Given the description of an element on the screen output the (x, y) to click on. 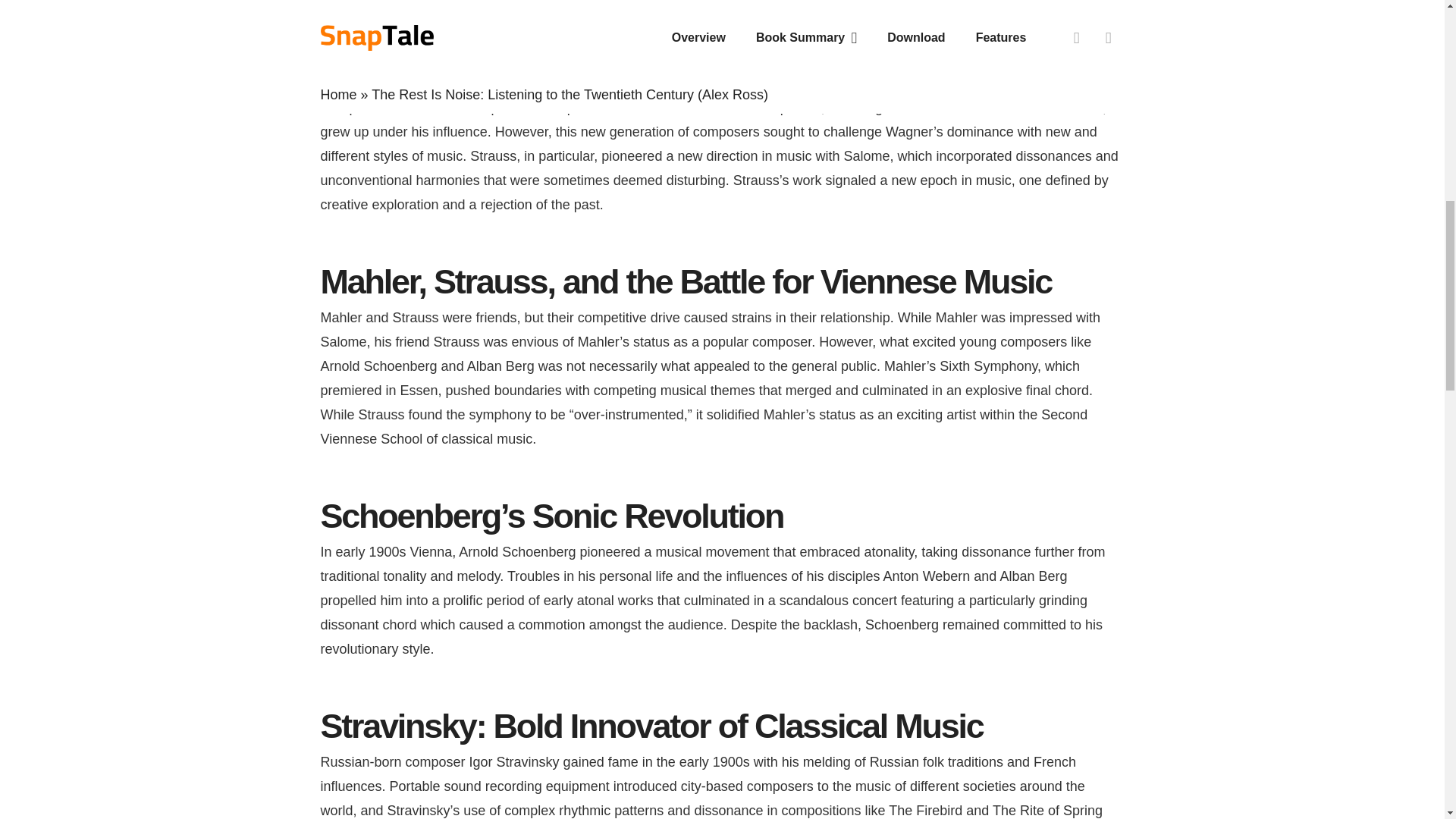
Back to top (1413, 37)
